Given the description of an element on the screen output the (x, y) to click on. 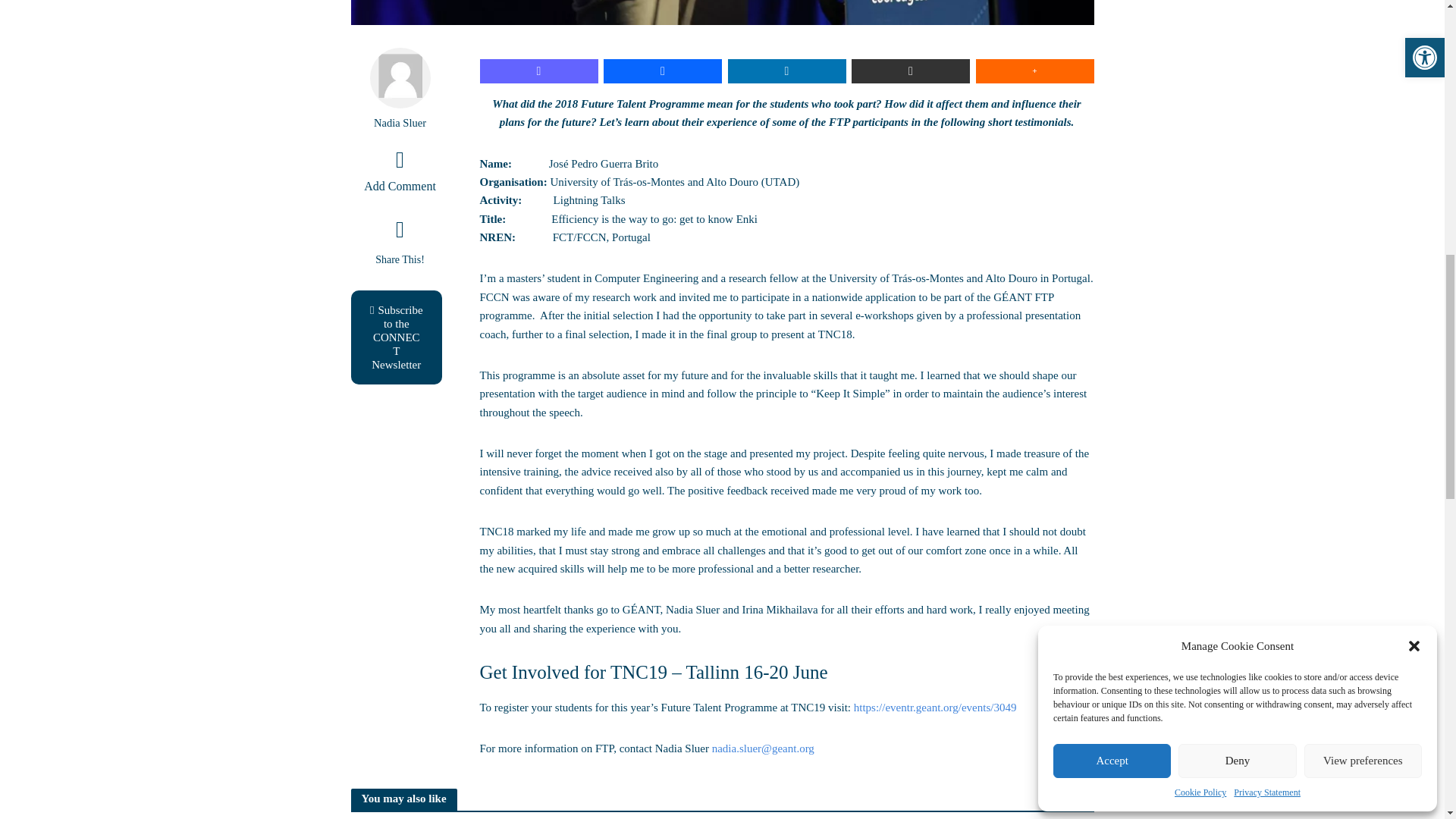
Add this to LinkedIn (786, 70)
More share links (1034, 70)
Short link (910, 70)
Share this on Mastodon (537, 70)
Share this on Facebook (663, 70)
